Given the description of an element on the screen output the (x, y) to click on. 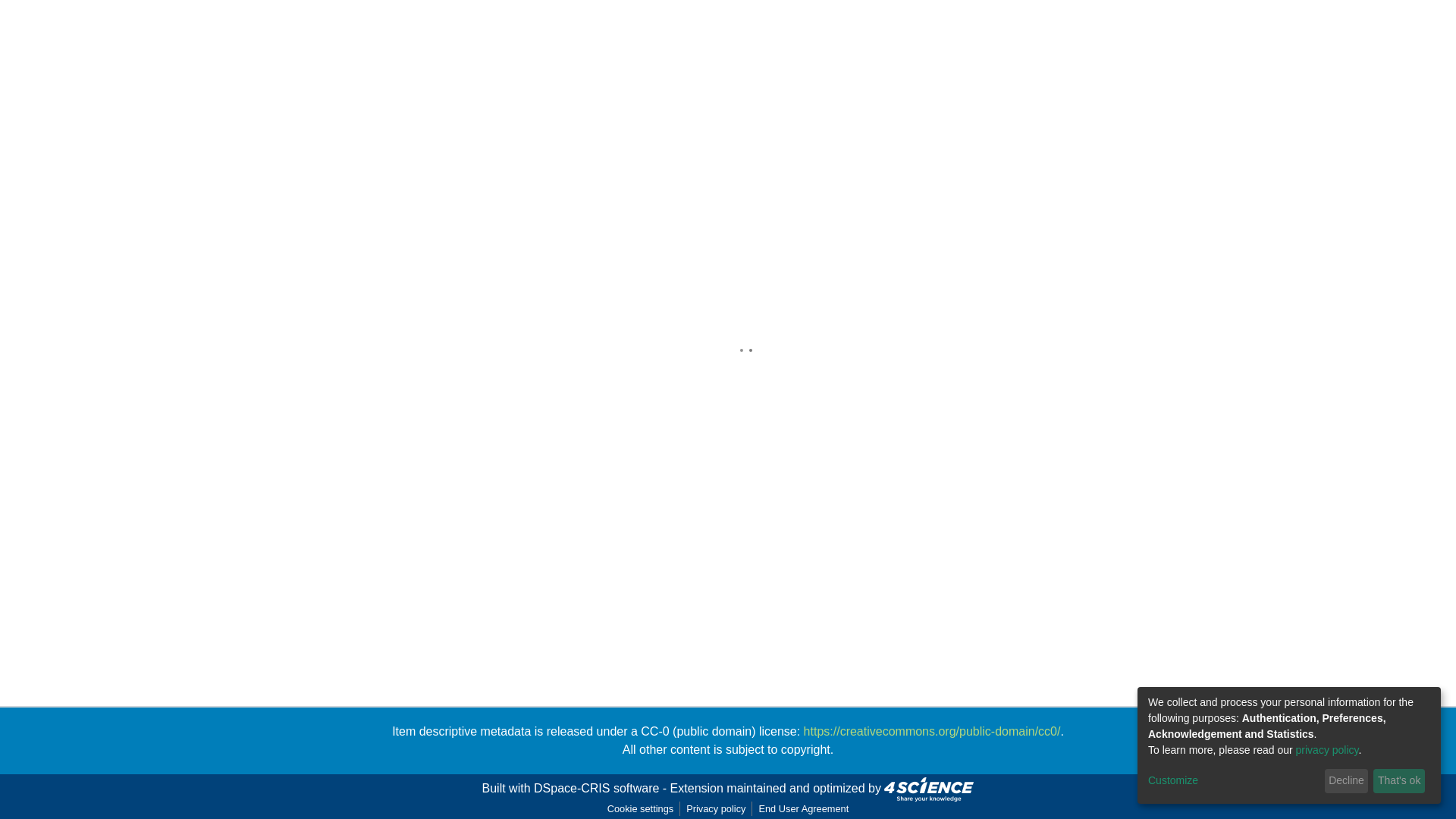
Cookie settings (640, 808)
DSpace-CRIS software (596, 788)
Privacy policy (715, 808)
Customize (1233, 780)
Decline (1346, 781)
That's ok (1399, 781)
End User Agreement (803, 808)
privacy policy (1326, 749)
